Given the description of an element on the screen output the (x, y) to click on. 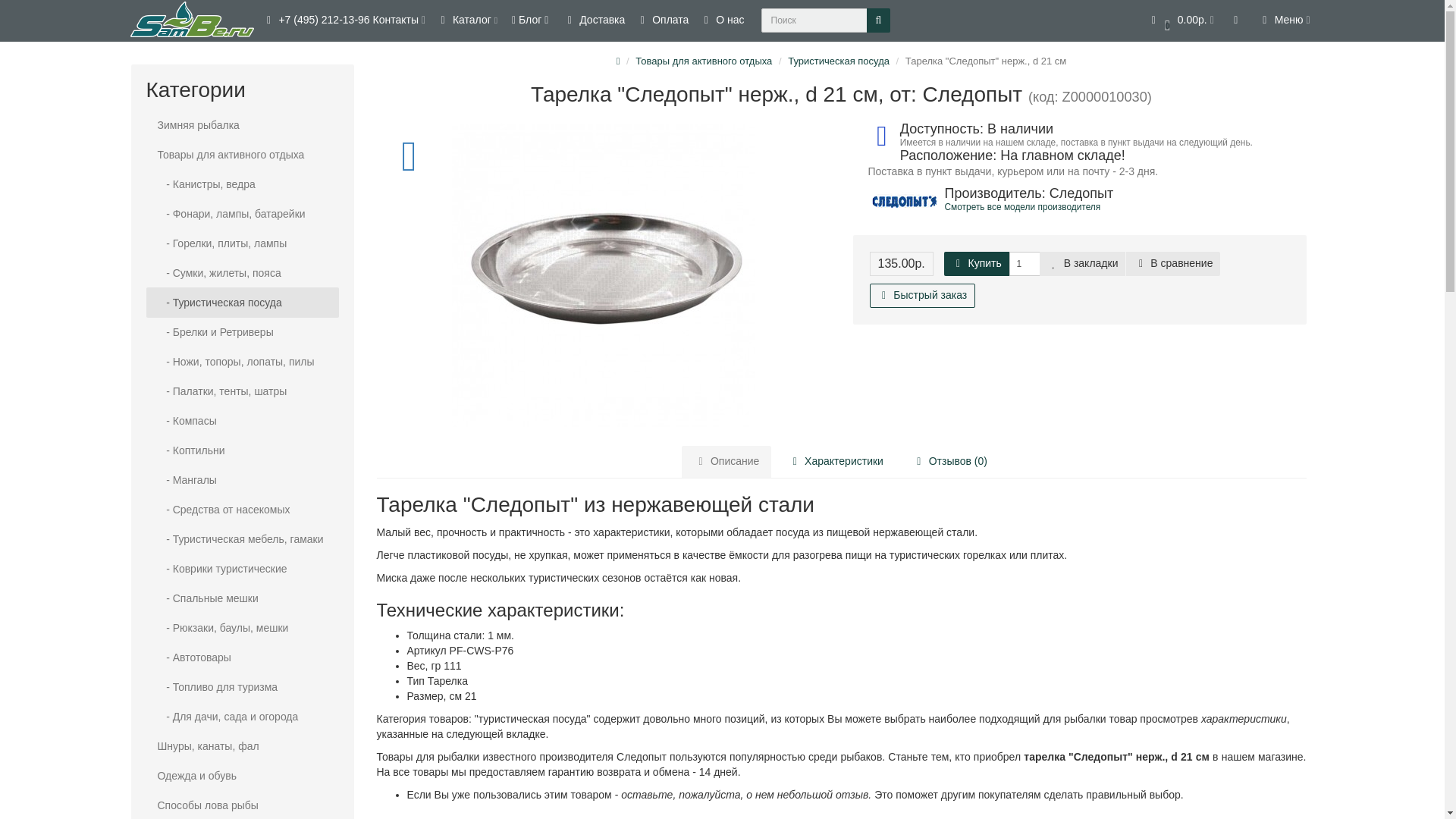
1 (1024, 263)
